Given the description of an element on the screen output the (x, y) to click on. 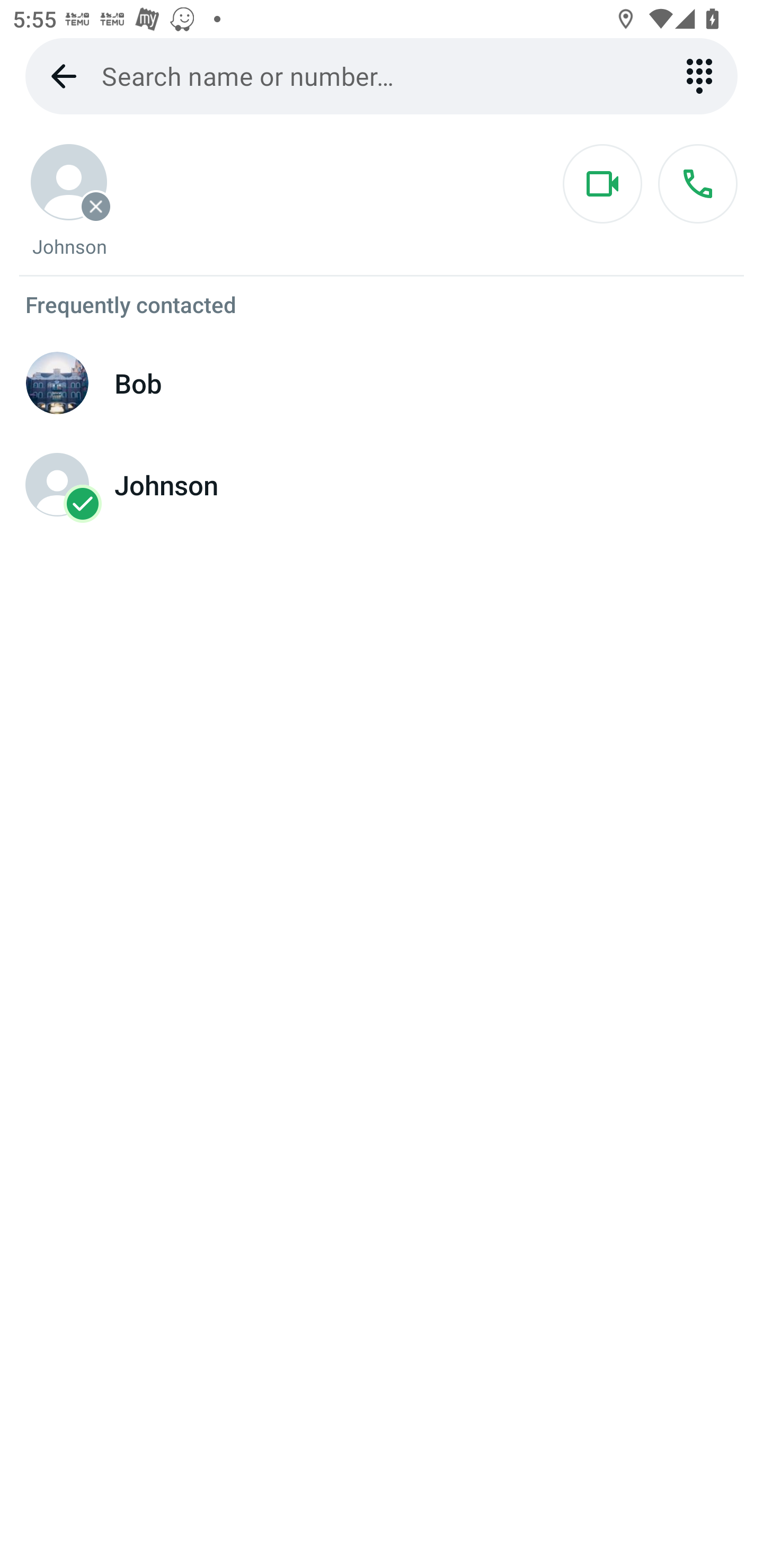
Search name or number… (381, 75)
Show dial pad keyboard (699, 75)
Johnson is selected Remove Johnson (68, 201)
Video call (602, 184)
Voice call (697, 184)
Frequently contacted (381, 303)
Bob (381, 383)
Johnson Selected Johnson (381, 485)
